Given the description of an element on the screen output the (x, y) to click on. 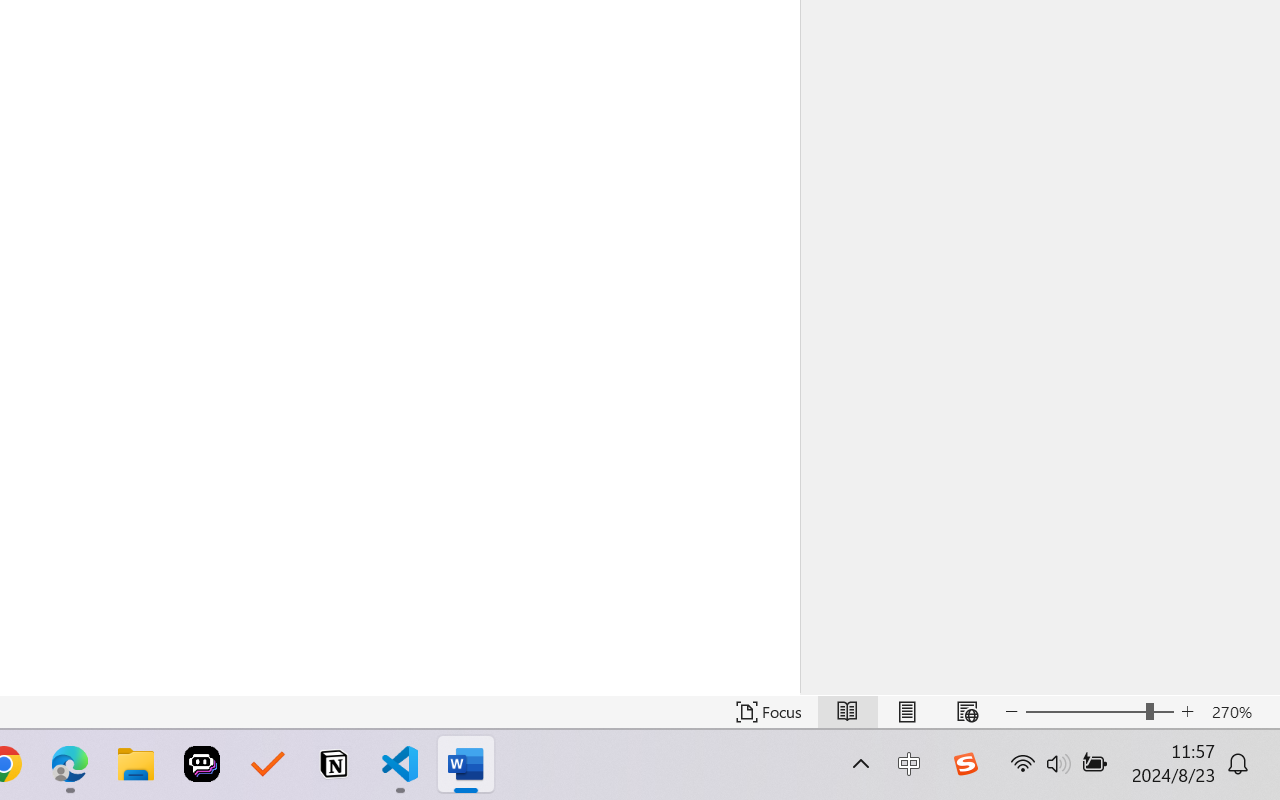
Text Size (1100, 712)
